Given the description of an element on the screen output the (x, y) to click on. 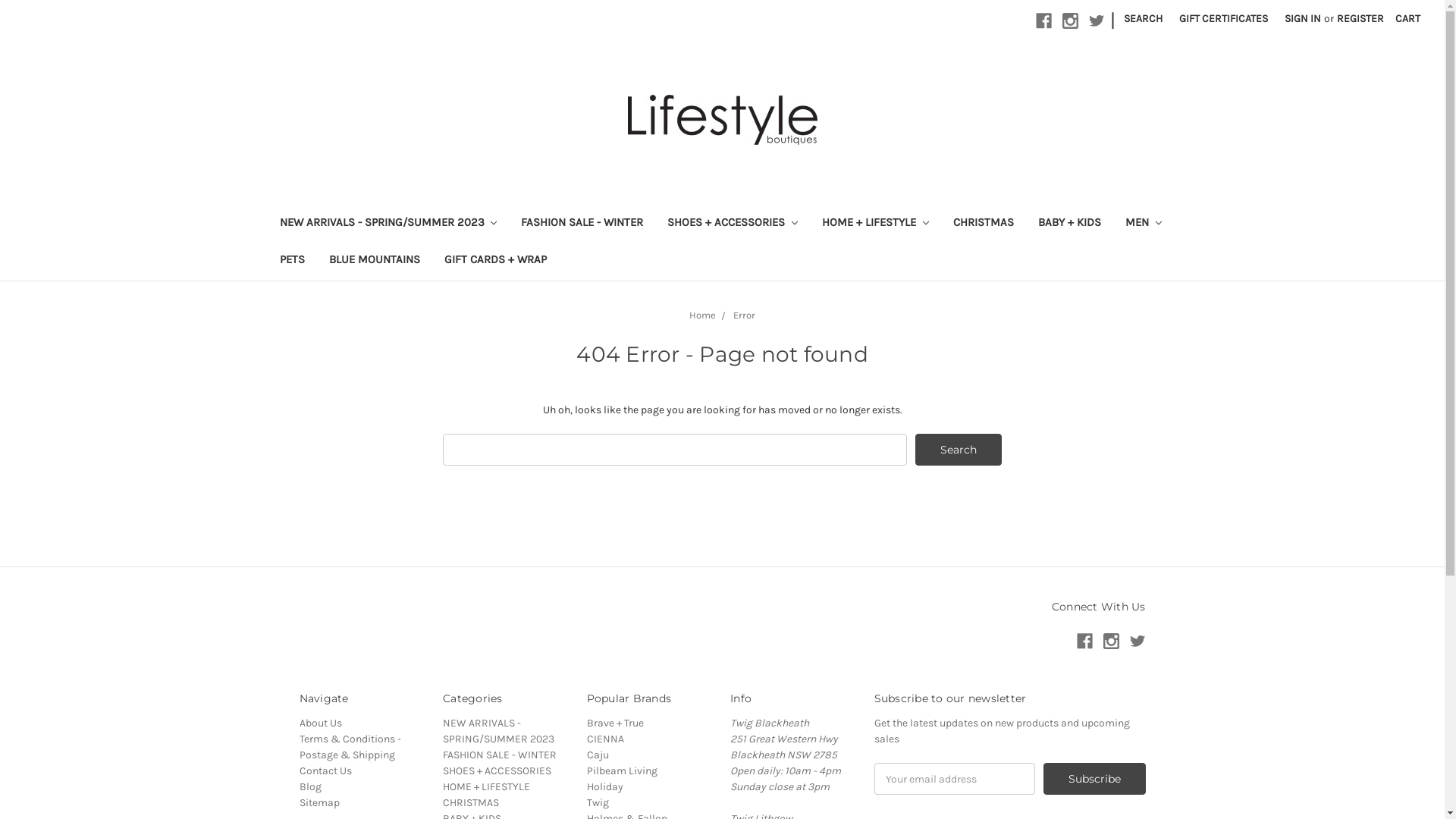
Caju Element type: text (597, 754)
Sitemap Element type: text (318, 802)
FASHION SALE - WINTER Element type: text (499, 754)
SEARCH Element type: text (1142, 18)
About Us Element type: text (319, 722)
Twig Element type: text (597, 802)
BABY + KIDS Element type: text (1069, 223)
MEN Element type: text (1143, 223)
Home Element type: text (702, 314)
GIFT CERTIFICATES Element type: text (1223, 18)
CHRISTMAS Element type: text (470, 802)
BLUE MOUNTAINS Element type: text (374, 260)
Contact Us Element type: text (324, 770)
HOME + LIFESTYLE Element type: text (486, 786)
NEW ARRIVALS - SPRING/SUMMER 2023 Element type: text (387, 223)
Terms & Conditions - Postage & Shipping Element type: text (349, 746)
Blog Element type: text (309, 786)
CART Element type: text (1407, 18)
Holiday Element type: text (604, 786)
CHRISTMAS Element type: text (983, 223)
Pilbeam Living Element type: text (621, 770)
CIENNA Element type: text (605, 738)
NEW ARRIVALS - SPRING/SUMMER 2023 Element type: text (498, 730)
SHOES + ACCESSORIES Element type: text (732, 223)
Search Element type: text (958, 449)
FASHION SALE - WINTER Element type: text (581, 223)
GIFT CARDS + WRAP Element type: text (495, 260)
SHOES + ACCESSORIES Element type: text (496, 770)
Brave + True Element type: text (614, 722)
PETS Element type: text (291, 260)
REGISTER Element type: text (1360, 18)
Lifestyle Boutiques Element type: hover (722, 119)
HOME + LIFESTYLE Element type: text (875, 223)
SIGN IN Element type: text (1302, 18)
Subscribe Element type: text (1094, 778)
